Given the description of an element on the screen output the (x, y) to click on. 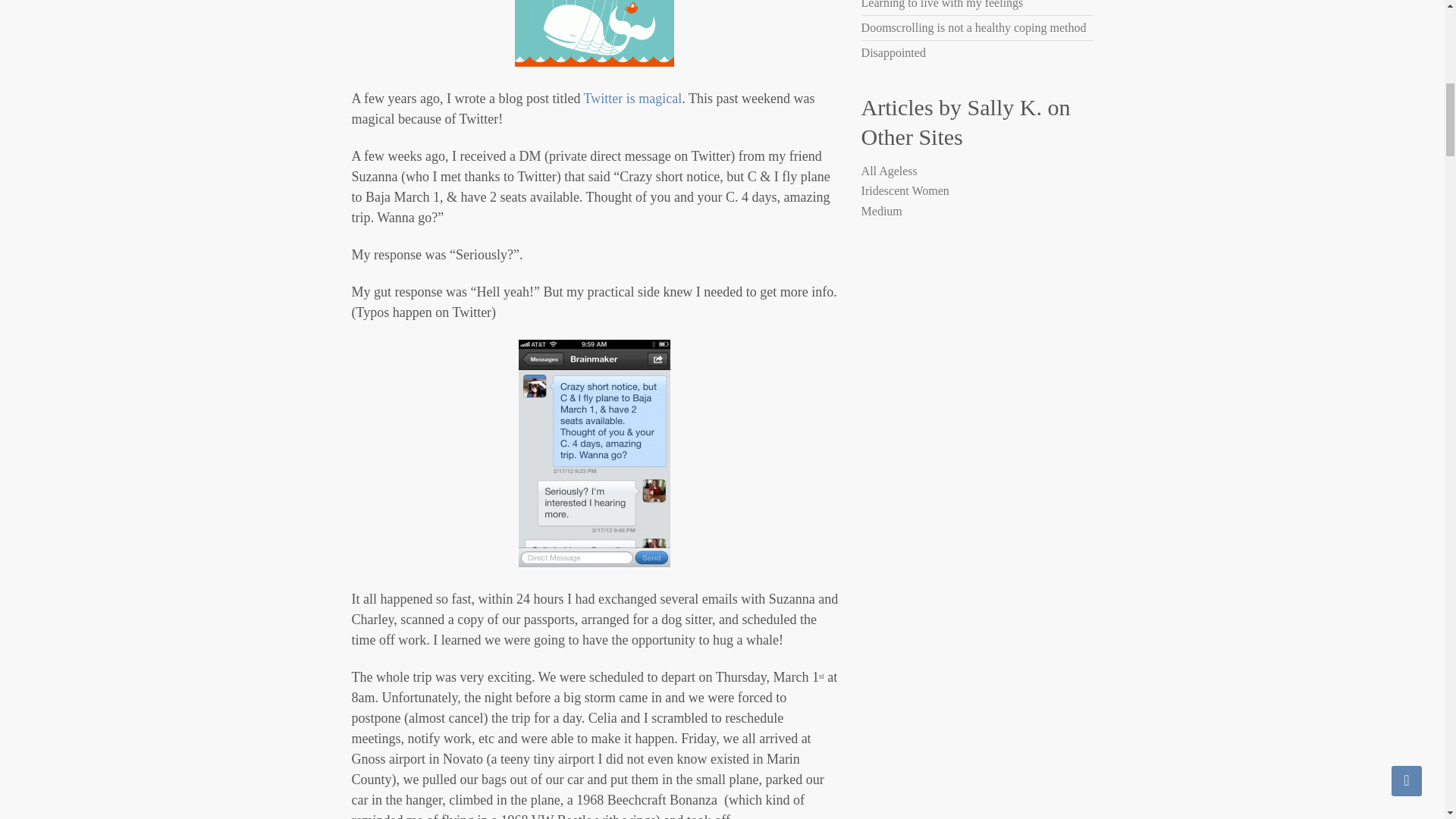
Twitter is magical (632, 98)
Fail Whale (594, 33)
